Given the description of an element on the screen output the (x, y) to click on. 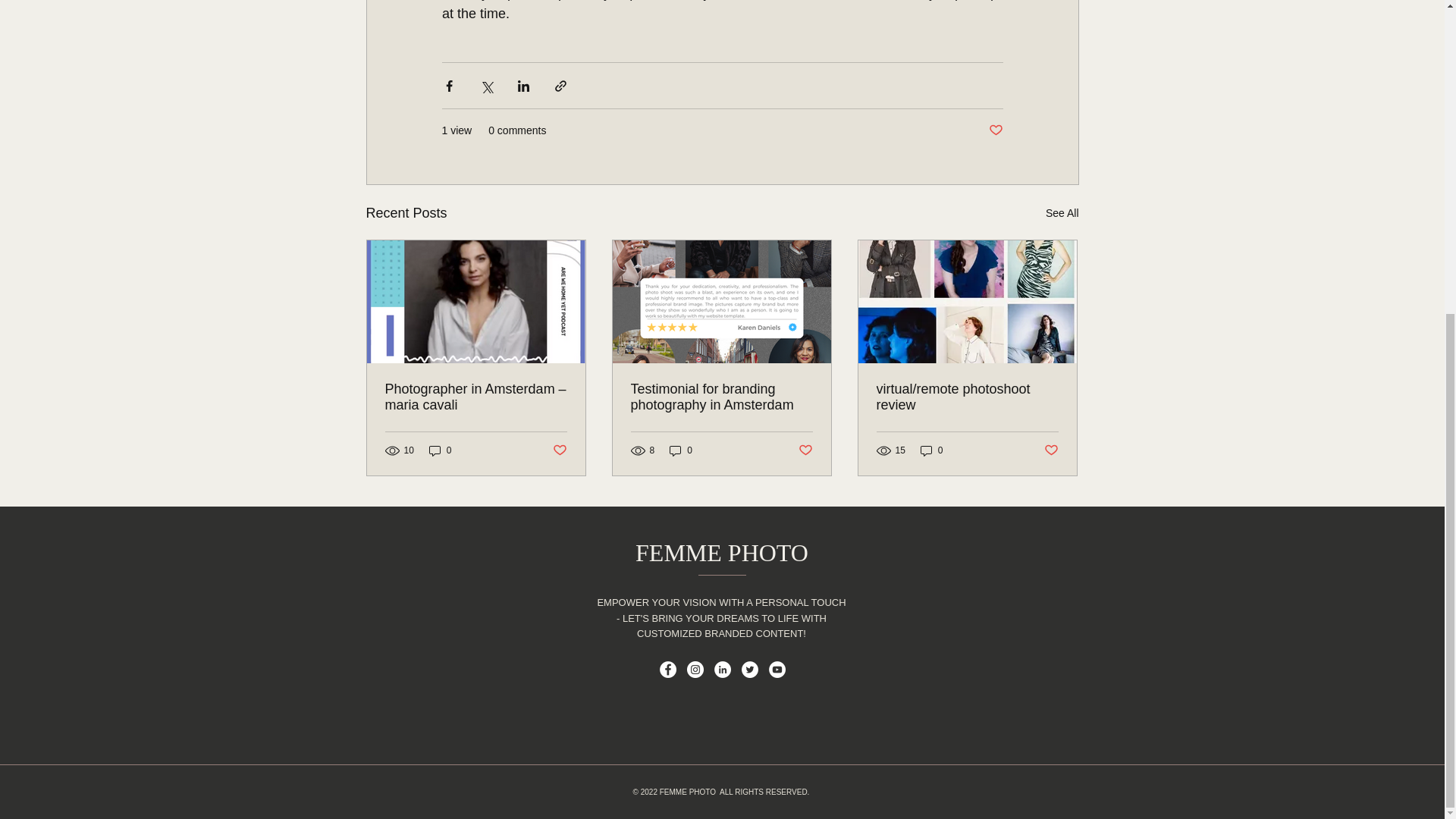
Testimonial for branding photography in Amsterdam (721, 397)
FEMME PHOTO (721, 552)
See All (1061, 213)
0 (681, 450)
Post not marked as liked (1050, 449)
0 (440, 450)
Post not marked as liked (995, 130)
0 (931, 450)
Post not marked as liked (558, 449)
Post not marked as liked (804, 449)
